Given the description of an element on the screen output the (x, y) to click on. 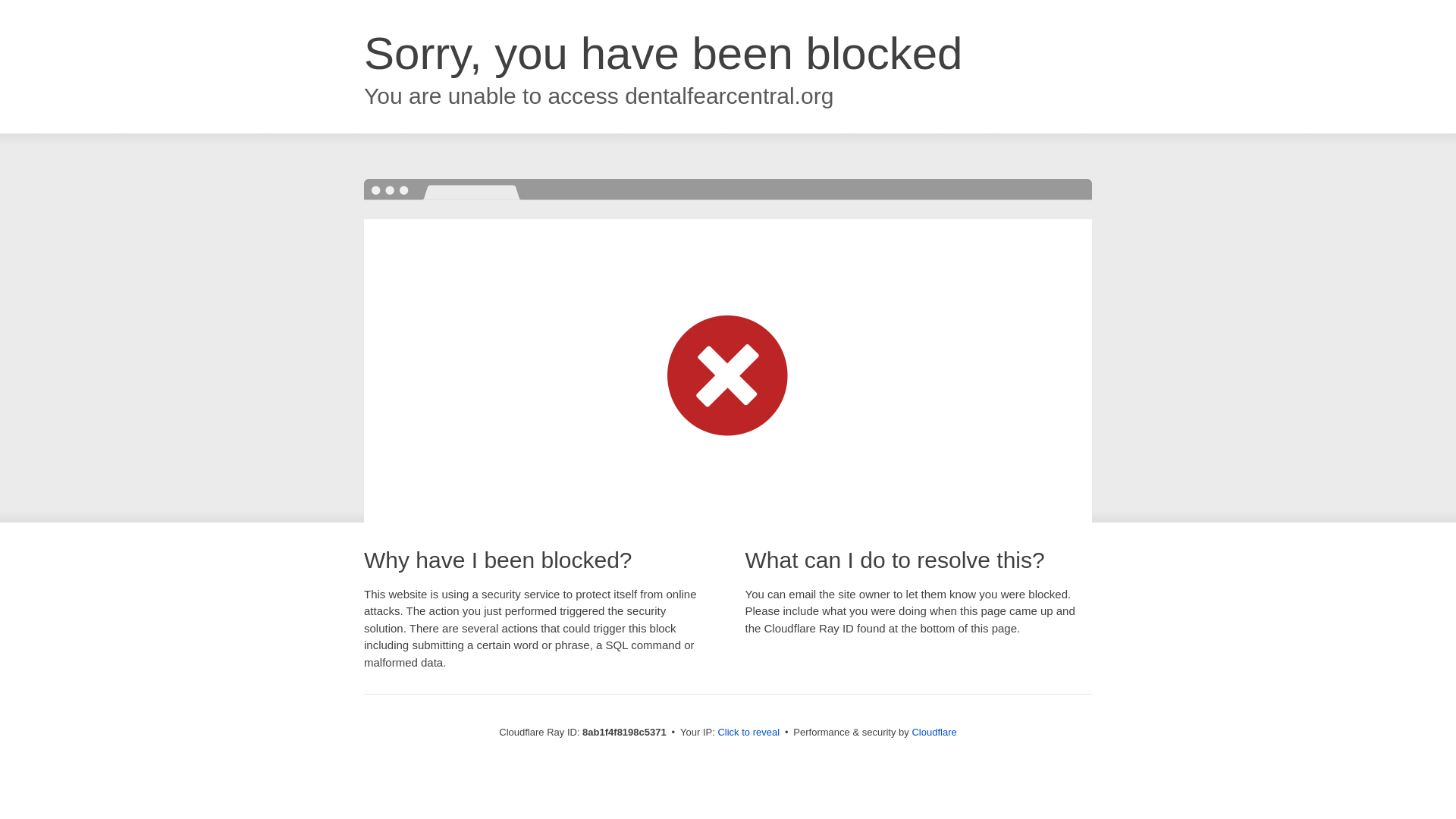
Cloudflare (933, 731)
Click to reveal (747, 732)
